Given the description of an element on the screen output the (x, y) to click on. 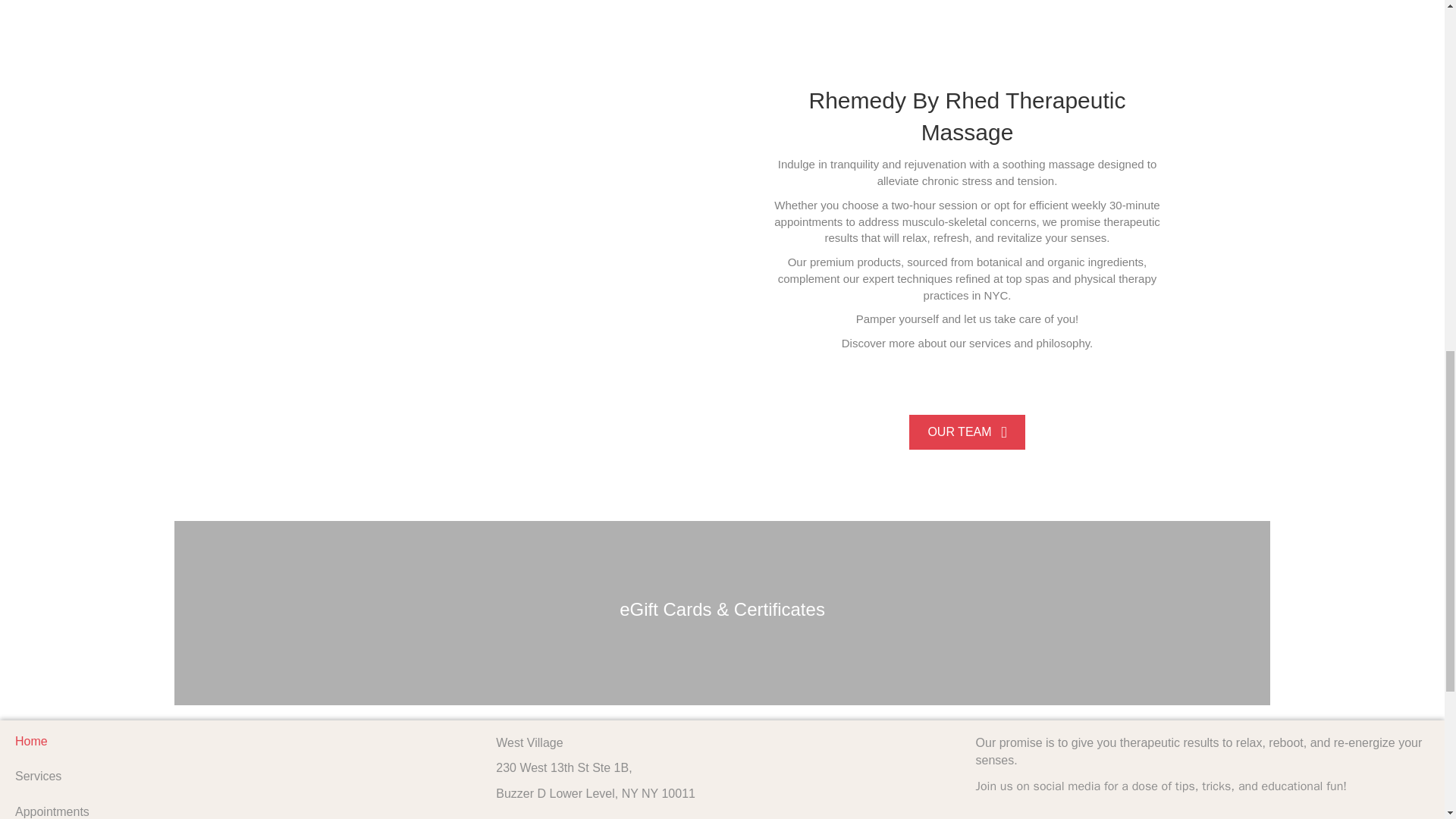
Services (243, 776)
Home (243, 740)
Appointments (243, 806)
OUR TEAM (966, 431)
Rhemedy By Rhed Therapeutic Massage (966, 115)
